Given the description of an element on the screen output the (x, y) to click on. 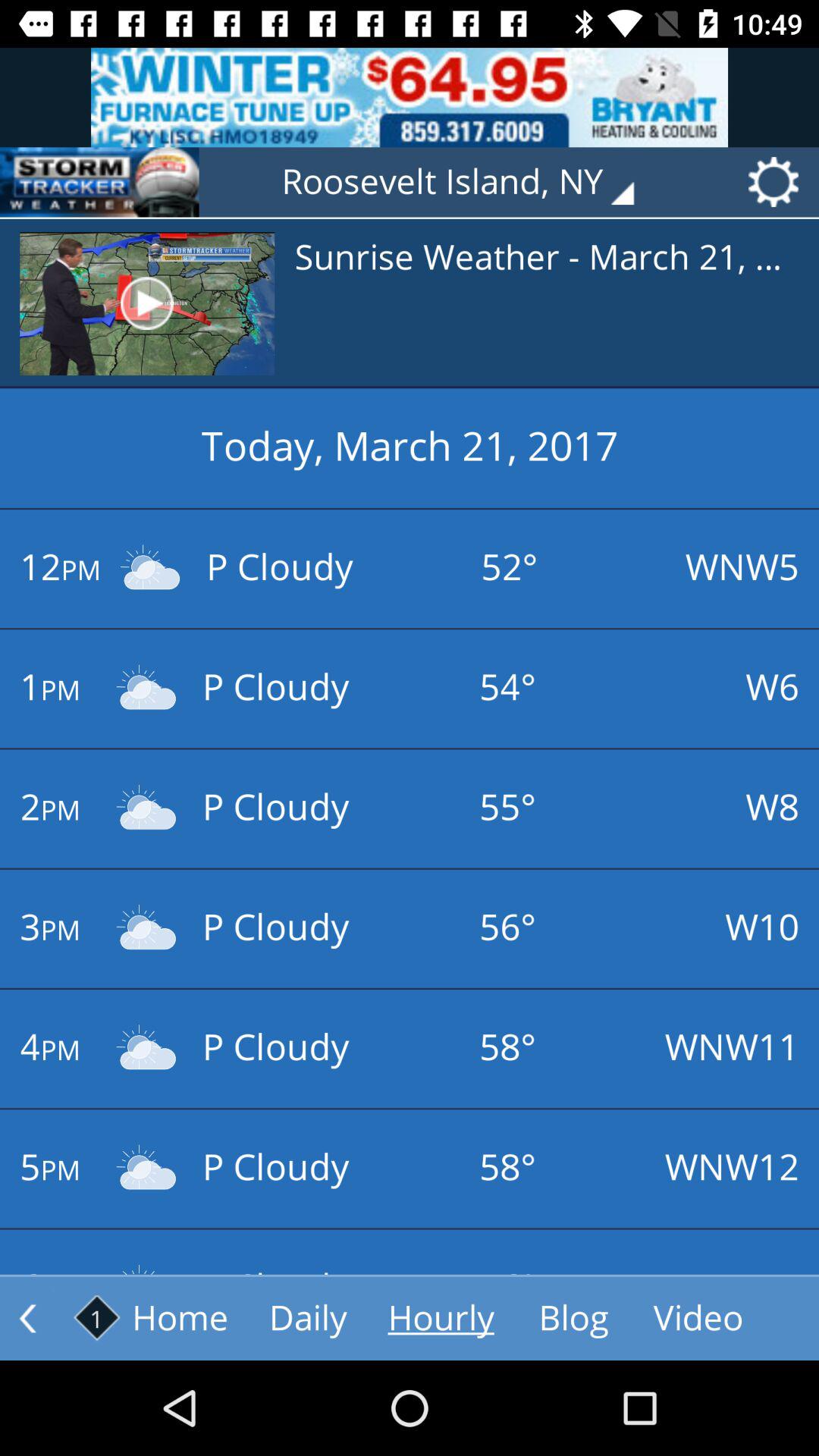
this image was advertisement (409, 97)
